Given the description of an element on the screen output the (x, y) to click on. 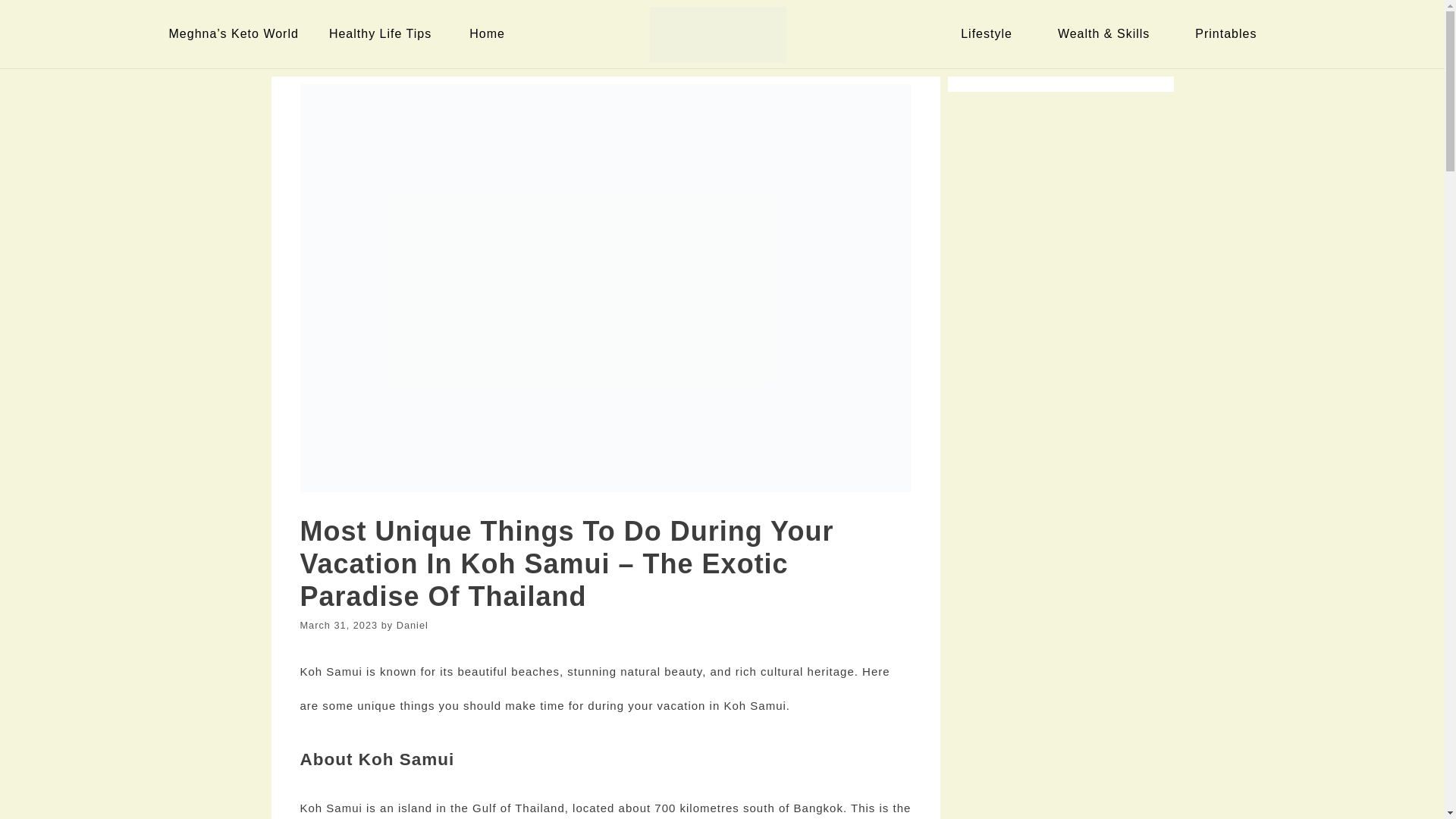
Lifestyle (989, 33)
Healthy Life Tips (383, 33)
Home (490, 33)
View all posts by Daniel (412, 624)
